Given the description of an element on the screen output the (x, y) to click on. 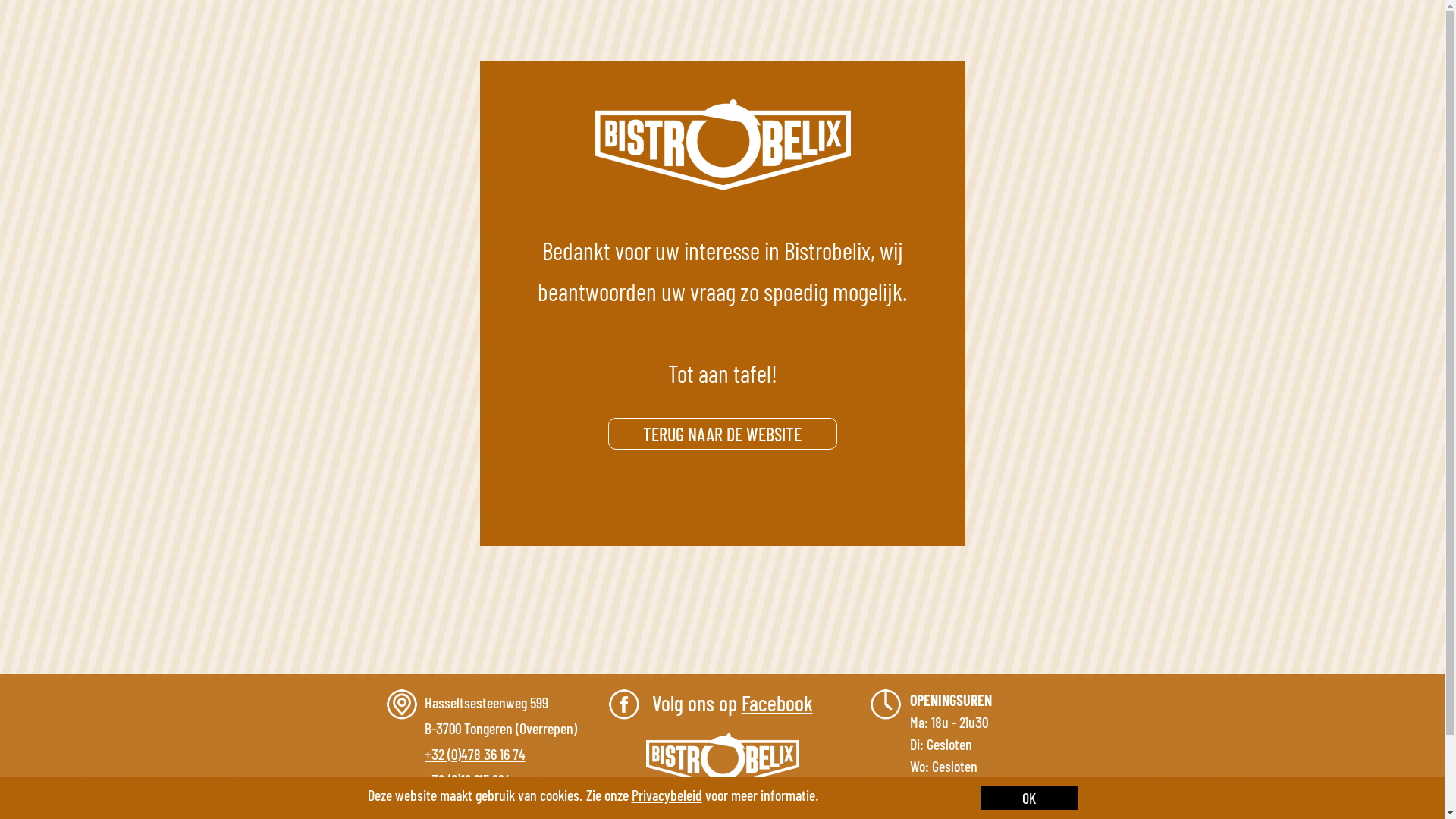
TERUG NAAR DE WEBSITE Element type: text (721, 437)
Privacybeleid Element type: text (665, 794)
+32 (0)12 215 294 Element type: text (467, 779)
+32 (0)478 36 16 74 Element type: text (474, 753)
Facebook Element type: text (776, 702)
info@bistrobelix.be Element type: text (476, 805)
